Given the description of an element on the screen output the (x, y) to click on. 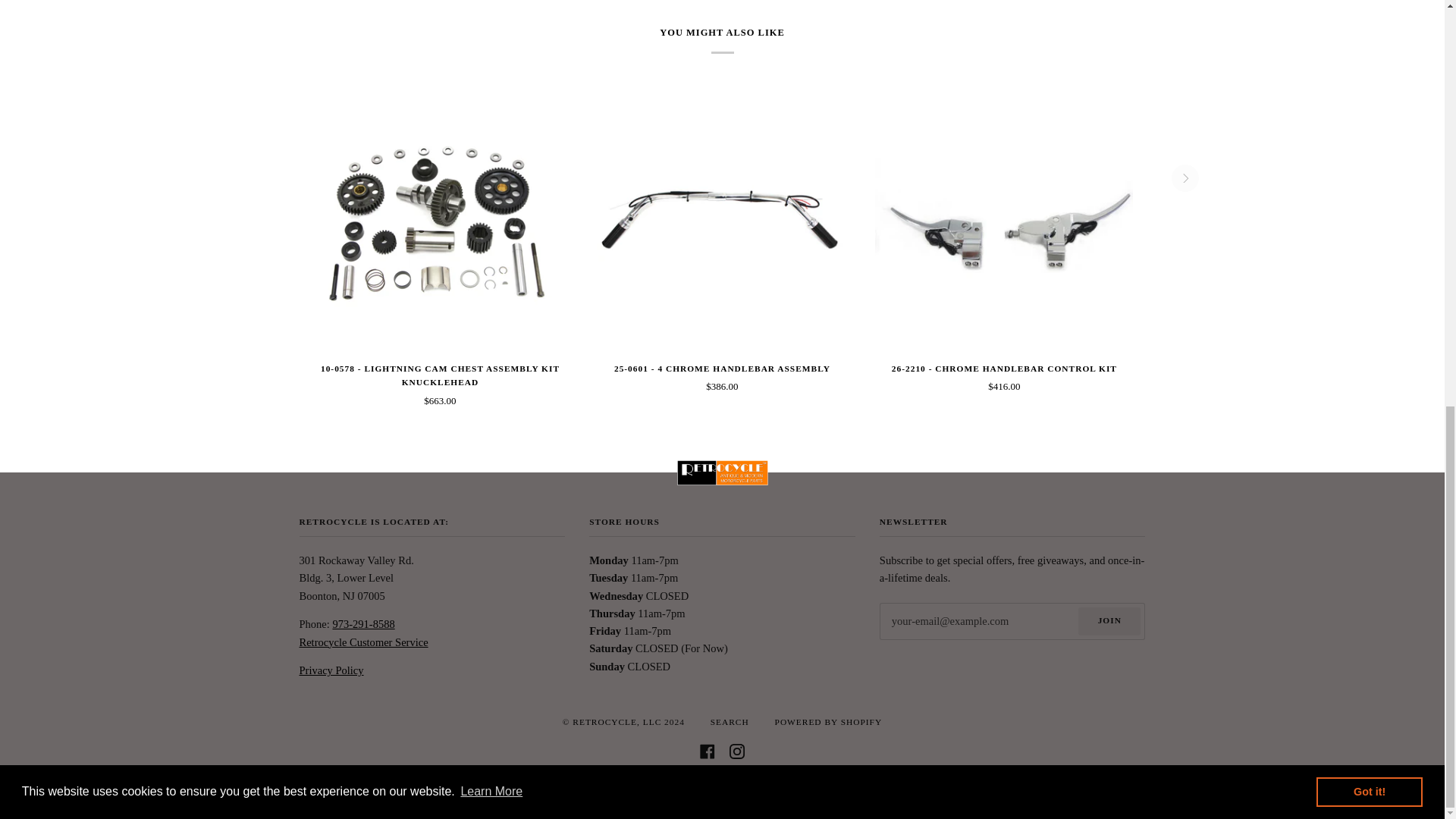
Facebook (707, 751)
VISA (923, 786)
MASTERCARD (743, 786)
Privacy Policy (330, 670)
PAYPAL (789, 786)
DISCOVER (655, 786)
APPLE PAY (566, 786)
DINERS CLUB (610, 786)
VENMO (877, 786)
AMERICAN EXPRESS (521, 786)
SHOP PAY (834, 786)
Instagram (736, 751)
META PAY (700, 786)
